Given the description of an element on the screen output the (x, y) to click on. 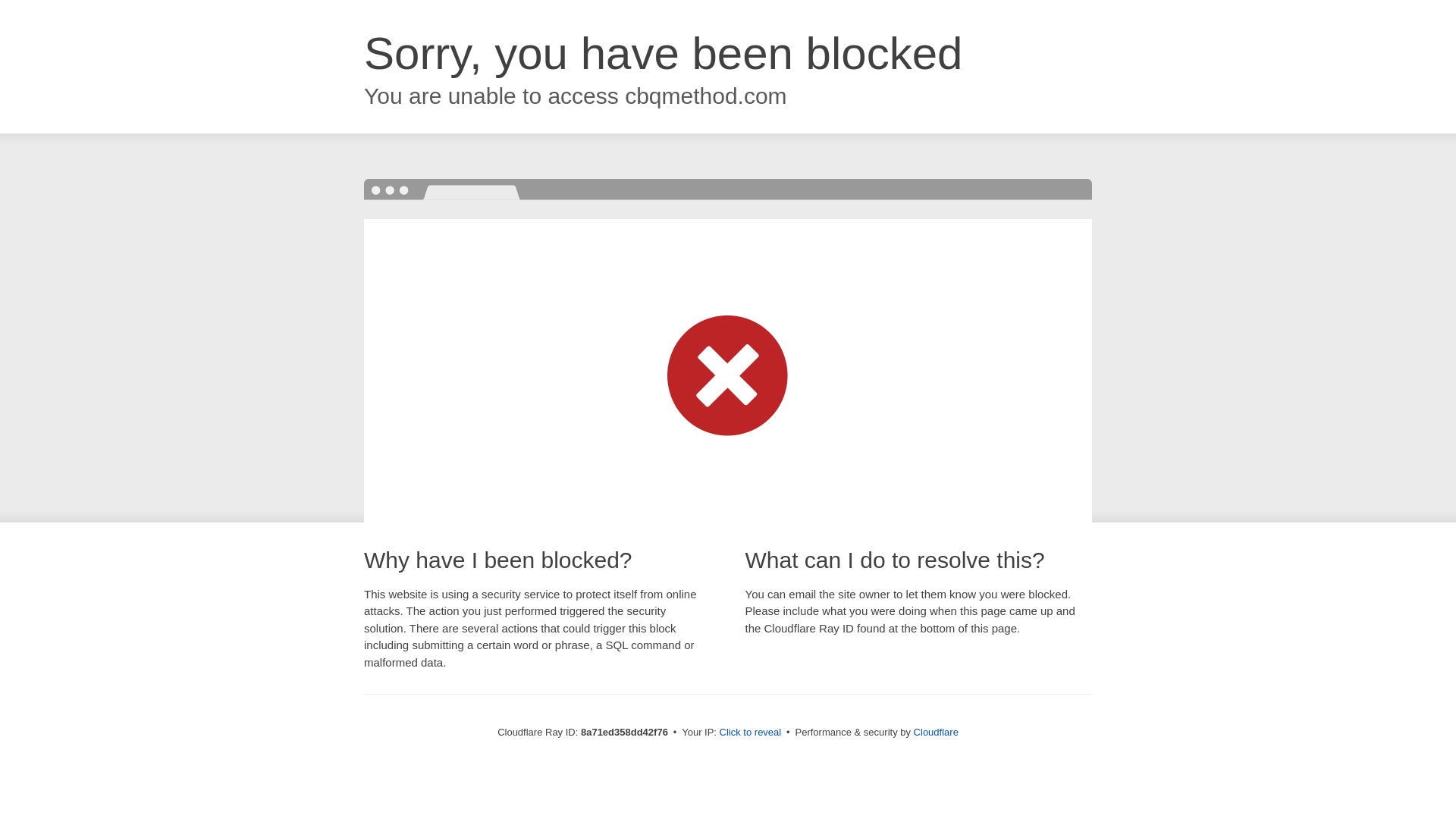
Cloudflare (936, 731)
Click to reveal (750, 732)
